Given the description of an element on the screen output the (x, y) to click on. 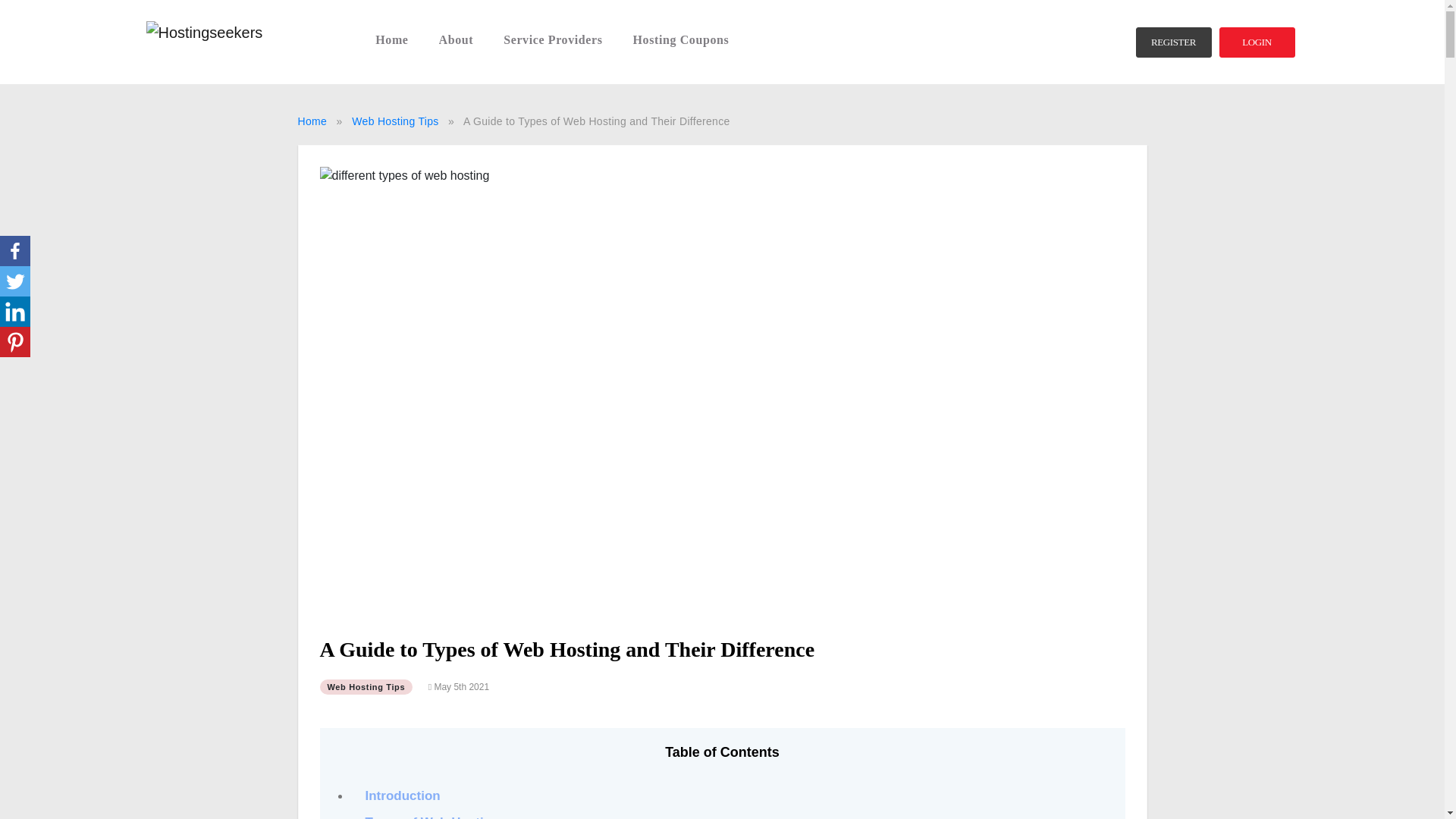
Hosting Coupons (681, 38)
Service Providers (552, 38)
LOGIN (1257, 42)
Introduction (403, 795)
REGISTER (1173, 42)
Pinterest (15, 341)
Home (391, 38)
Types of Web Hosting (432, 816)
Facebook (15, 250)
Web Hosting Tips (395, 121)
Linkedin (15, 311)
Web Hosting Tips (366, 686)
Home (311, 121)
About (456, 38)
Twitter (15, 281)
